Given the description of an element on the screen output the (x, y) to click on. 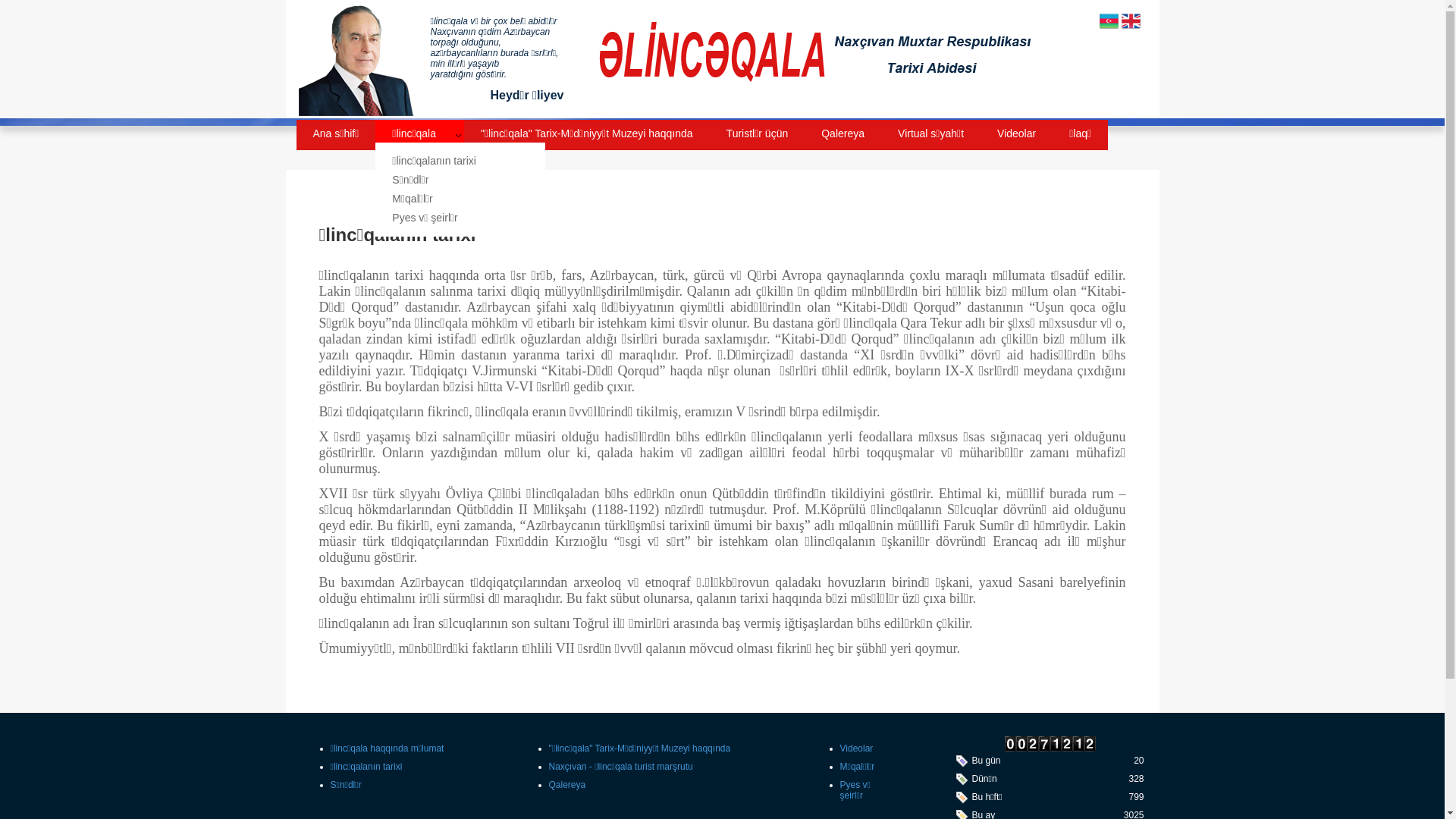
Videolar Element type: text (1016, 130)
2023-11-25 Element type: hover (961, 764)
Qalereya Element type: text (567, 784)
Qalereya Element type: text (842, 130)
2023-11-20 Element type: hover (961, 800)
Videolar Element type: text (856, 748)
2023-11-24 Element type: hover (961, 782)
